Given the description of an element on the screen output the (x, y) to click on. 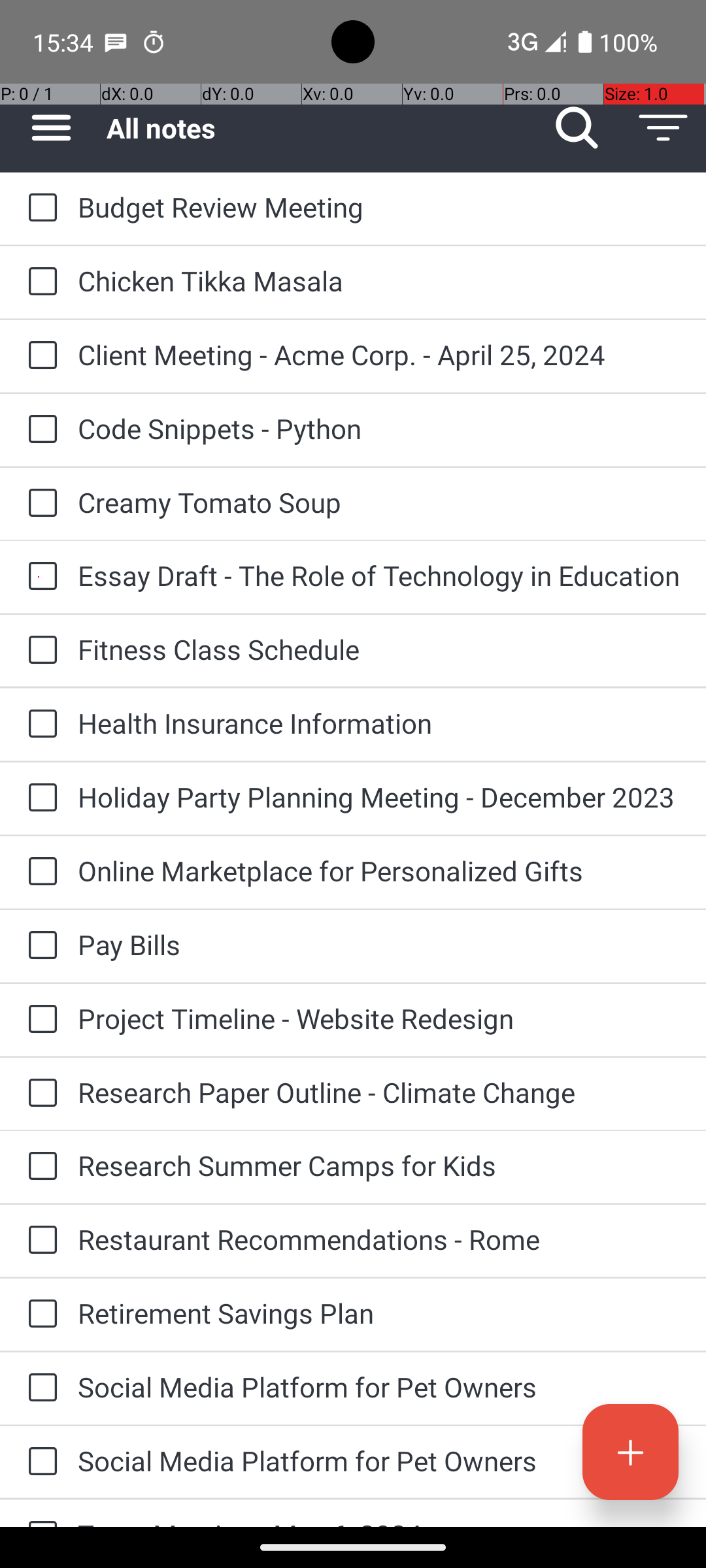
to-do: Budget Review Meeting Element type: android.widget.CheckBox (38, 208)
Budget Review Meeting Element type: android.widget.TextView (378, 206)
to-do: Chicken Tikka Masala Element type: android.widget.CheckBox (38, 282)
Chicken Tikka Masala Element type: android.widget.TextView (378, 280)
to-do: Client Meeting - Acme Corp. - April 25, 2024 Element type: android.widget.CheckBox (38, 356)
Client Meeting - Acme Corp. - April 25, 2024 Element type: android.widget.TextView (378, 354)
to-do: Code Snippets - Python Element type: android.widget.CheckBox (38, 429)
Code Snippets - Python Element type: android.widget.TextView (378, 427)
to-do: Creamy Tomato Soup Element type: android.widget.CheckBox (38, 503)
Creamy Tomato Soup Element type: android.widget.TextView (378, 501)
to-do: Fitness Class Schedule Element type: android.widget.CheckBox (38, 650)
Fitness Class Schedule Element type: android.widget.TextView (378, 648)
to-do: Health Insurance Information Element type: android.widget.CheckBox (38, 724)
Health Insurance Information Element type: android.widget.TextView (378, 722)
to-do: Holiday Party Planning Meeting - December 2023 Element type: android.widget.CheckBox (38, 798)
Holiday Party Planning Meeting - December 2023 Element type: android.widget.TextView (378, 796)
to-do: Online Marketplace for Personalized Gifts Element type: android.widget.CheckBox (38, 872)
Online Marketplace for Personalized Gifts Element type: android.widget.TextView (378, 870)
to-do: Pay Bills Element type: android.widget.CheckBox (38, 945)
Pay Bills Element type: android.widget.TextView (378, 944)
to-do: Project Timeline - Website Redesign Element type: android.widget.CheckBox (38, 1019)
Project Timeline - Website Redesign Element type: android.widget.TextView (378, 1017)
to-do: Research Paper Outline - Climate Change Element type: android.widget.CheckBox (38, 1093)
Research Paper Outline - Climate Change Element type: android.widget.TextView (378, 1091)
to-do: Research Summer Camps for Kids Element type: android.widget.CheckBox (38, 1166)
Research Summer Camps for Kids Element type: android.widget.TextView (378, 1164)
to-do: Restaurant Recommendations - Rome Element type: android.widget.CheckBox (38, 1240)
Restaurant Recommendations - Rome Element type: android.widget.TextView (378, 1238)
to-do: Retirement Savings Plan Element type: android.widget.CheckBox (38, 1314)
Retirement Savings Plan Element type: android.widget.TextView (378, 1312)
to-do: Social Media Platform for Pet Owners Element type: android.widget.CheckBox (38, 1388)
Social Media Platform for Pet Owners Element type: android.widget.TextView (378, 1386)
to-do: Team Meeting - May 6, 2024 Element type: android.widget.CheckBox (38, 1513)
Team Meeting - May 6, 2024 Element type: android.widget.TextView (378, 1520)
